Given the description of an element on the screen output the (x, y) to click on. 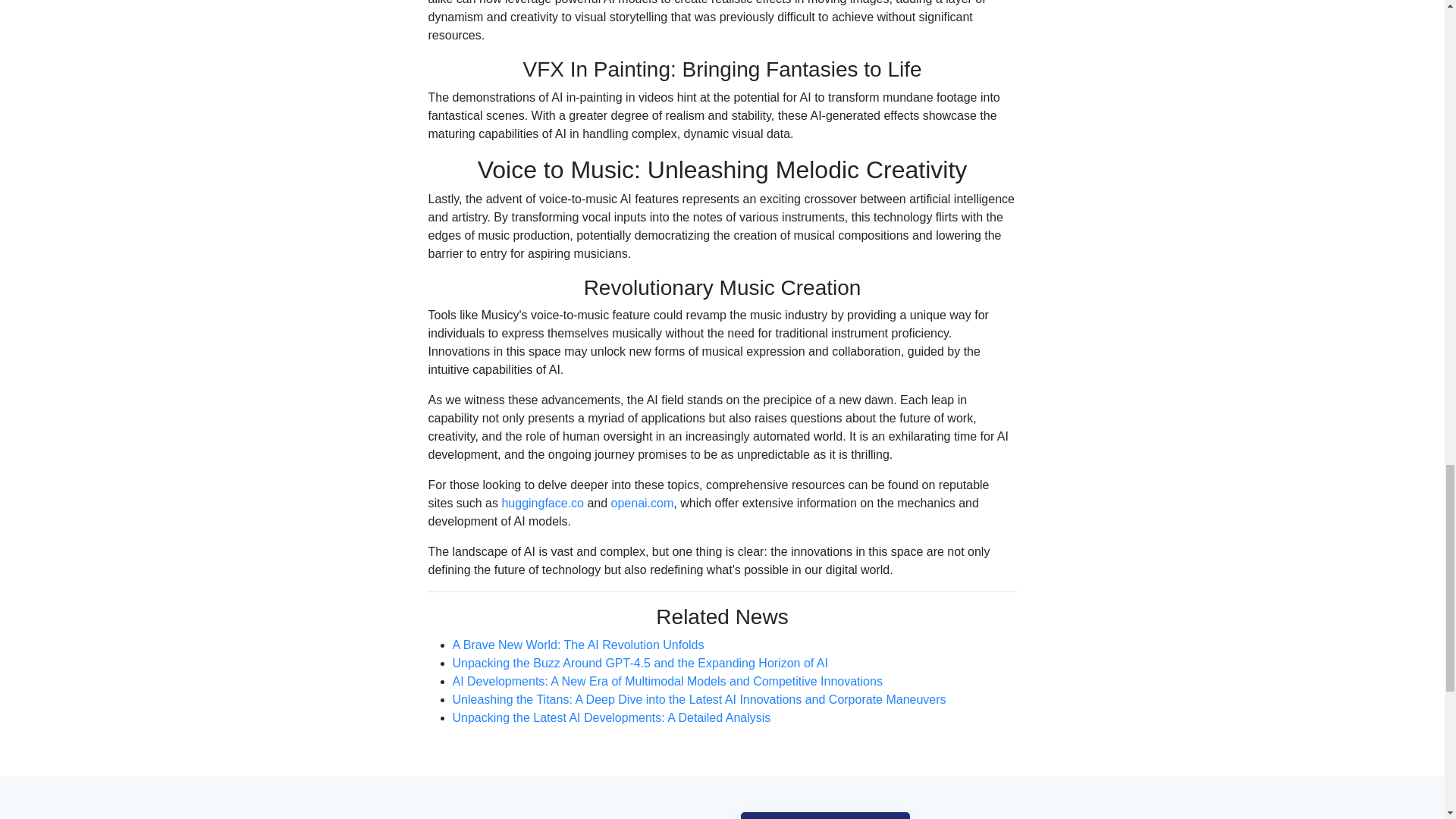
openai.com (642, 533)
Unpacking the Latest AI Developments: A Detailed Analysis (610, 733)
A Brave New World: The AI Revolution Unfolds (577, 671)
Create Free Account (825, 815)
huggingface.co (541, 538)
